Given the description of an element on the screen output the (x, y) to click on. 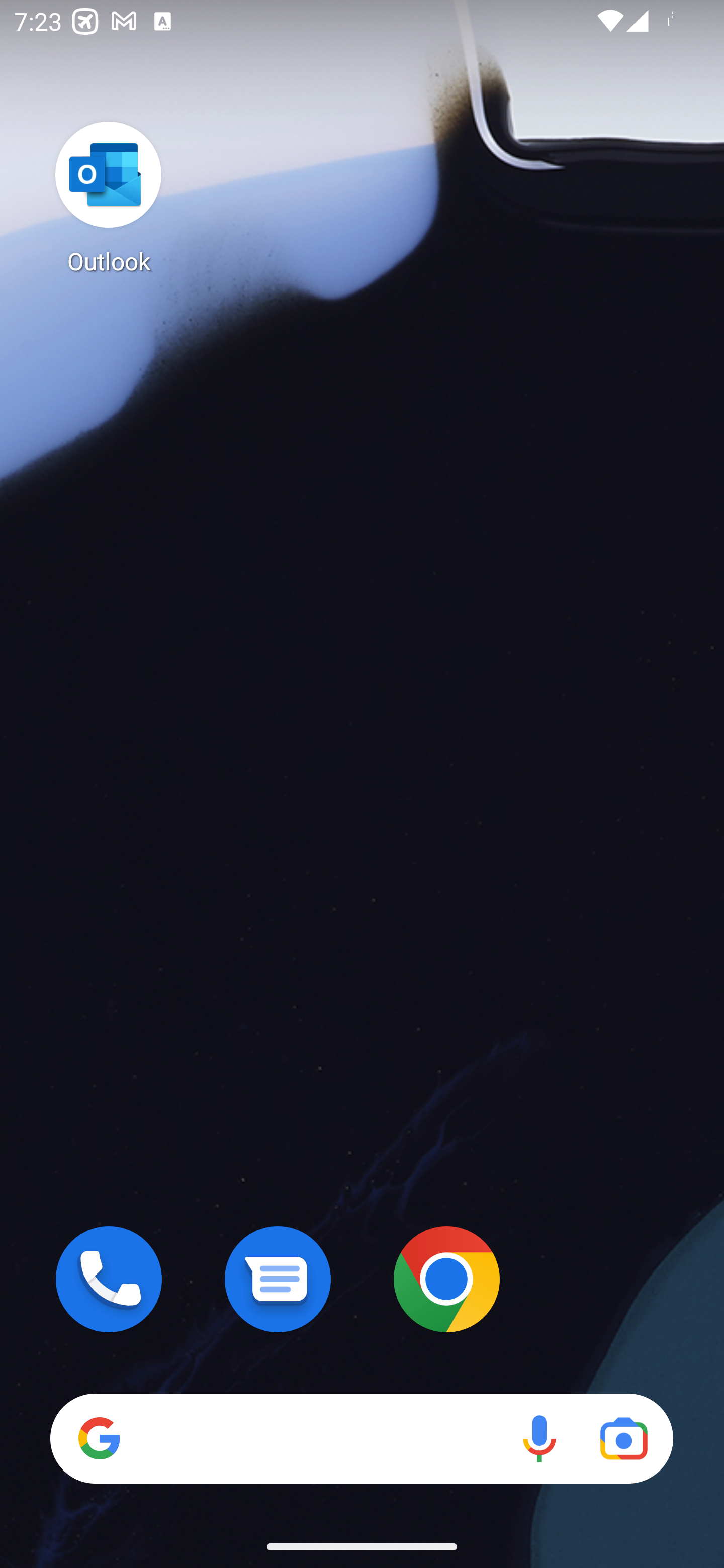
Outlook (108, 196)
Phone (108, 1279)
Messages (277, 1279)
Chrome (446, 1279)
Voice search (539, 1438)
Google Lens (623, 1438)
